Given the description of an element on the screen output the (x, y) to click on. 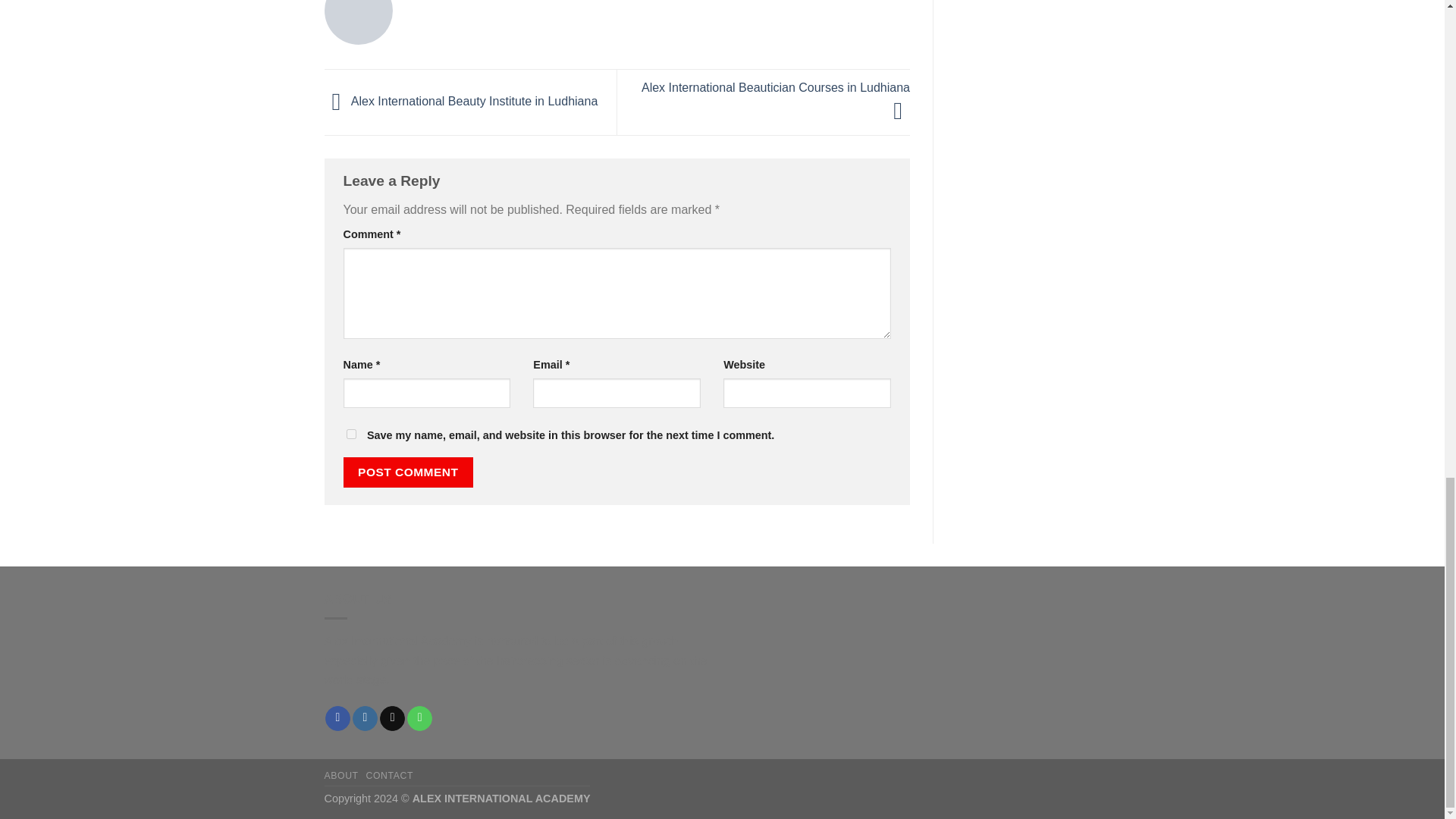
Alex International Beautician Courses in Ludhiana (776, 99)
Alex International Beauty Institute in Ludhiana (461, 101)
Post Comment (407, 471)
yes (350, 433)
Post Comment (407, 471)
